Given the description of an element on the screen output the (x, y) to click on. 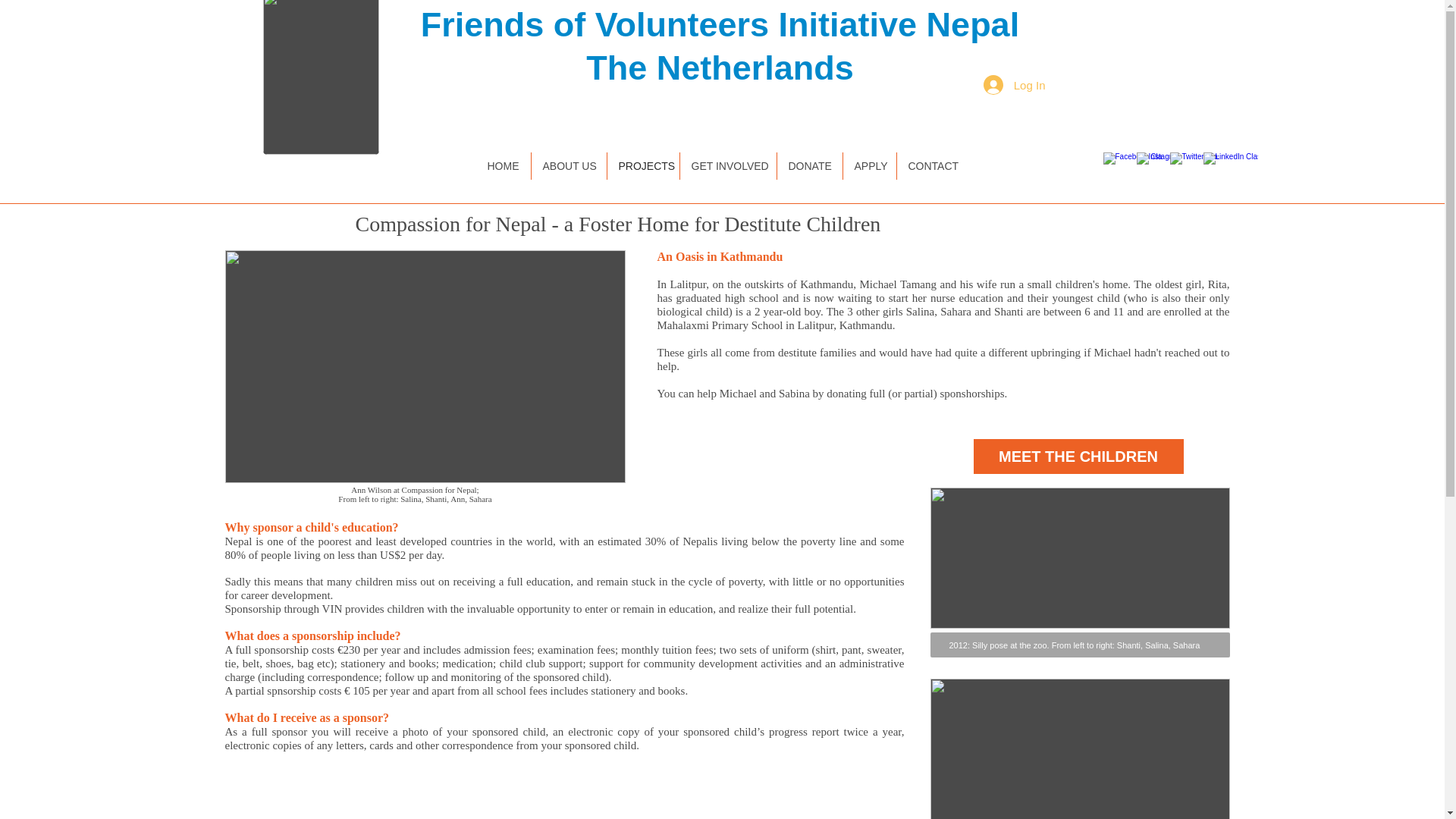
Friends of Volunteers Initiative Nepal (719, 24)
MEET THE CHILDREN (1078, 456)
The Netherlands (719, 67)
DONATE (808, 165)
HOME (503, 165)
GET INVOLVED (727, 165)
APPLY (869, 165)
ABOUT US (568, 165)
At the zoo (1079, 557)
Doing homework (1079, 748)
